Given the description of an element on the screen output the (x, y) to click on. 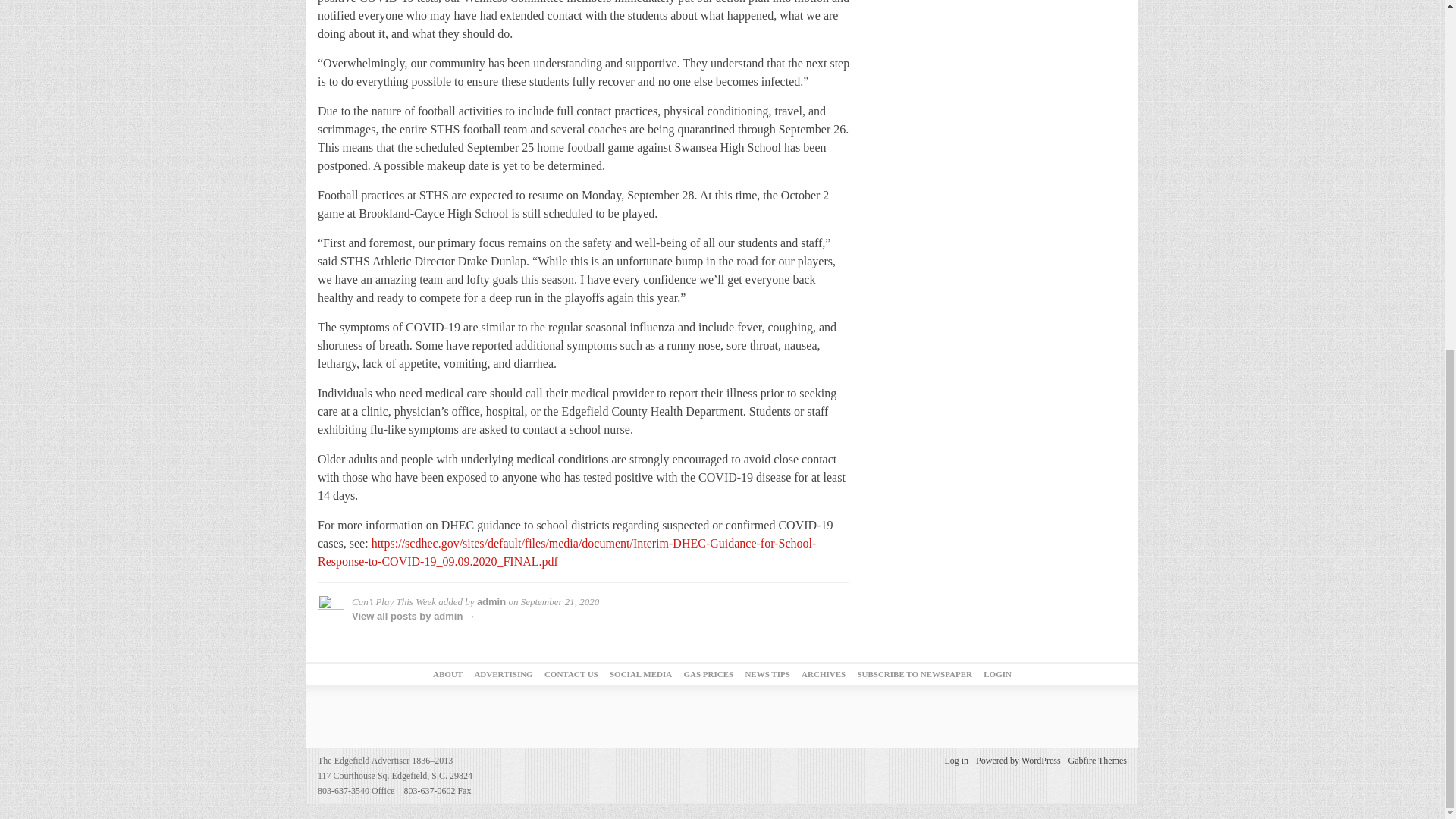
WordPress Newspaper Themes (1097, 760)
NEWS TIPS (766, 673)
GAS PRICES (707, 673)
admin (491, 601)
ABOUT (447, 673)
SUBSCRIBE TO NEWSPAPER (914, 673)
ADVERTISING (503, 673)
ARCHIVES (823, 673)
CONTACT US (571, 673)
SOCIAL MEDIA (640, 673)
